Given the description of an element on the screen output the (x, y) to click on. 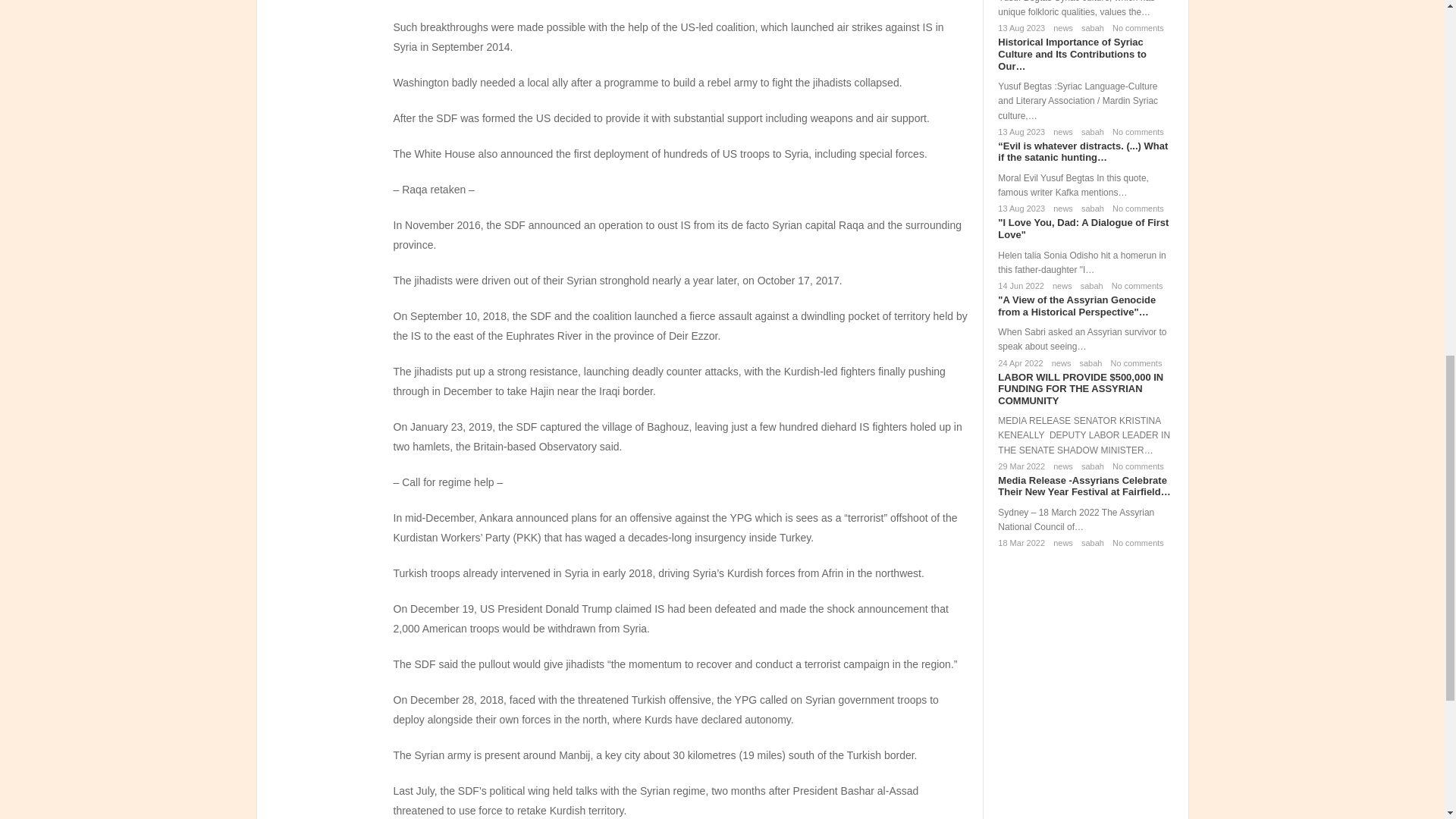
I Love You, Dad: A Dialogue of First Love (1083, 228)
